Given the description of an element on the screen output the (x, y) to click on. 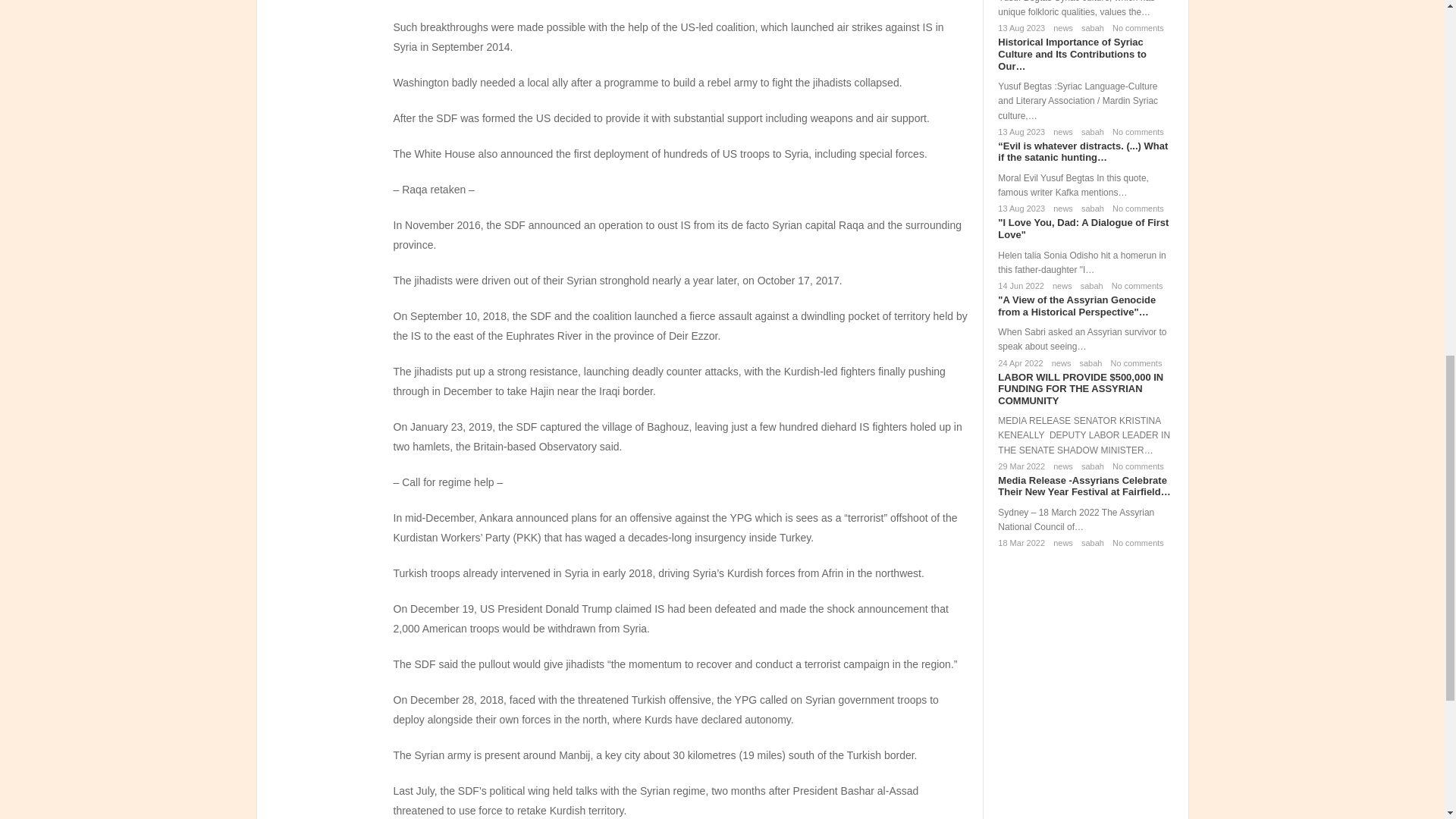
I Love You, Dad: A Dialogue of First Love (1083, 228)
